Given the description of an element on the screen output the (x, y) to click on. 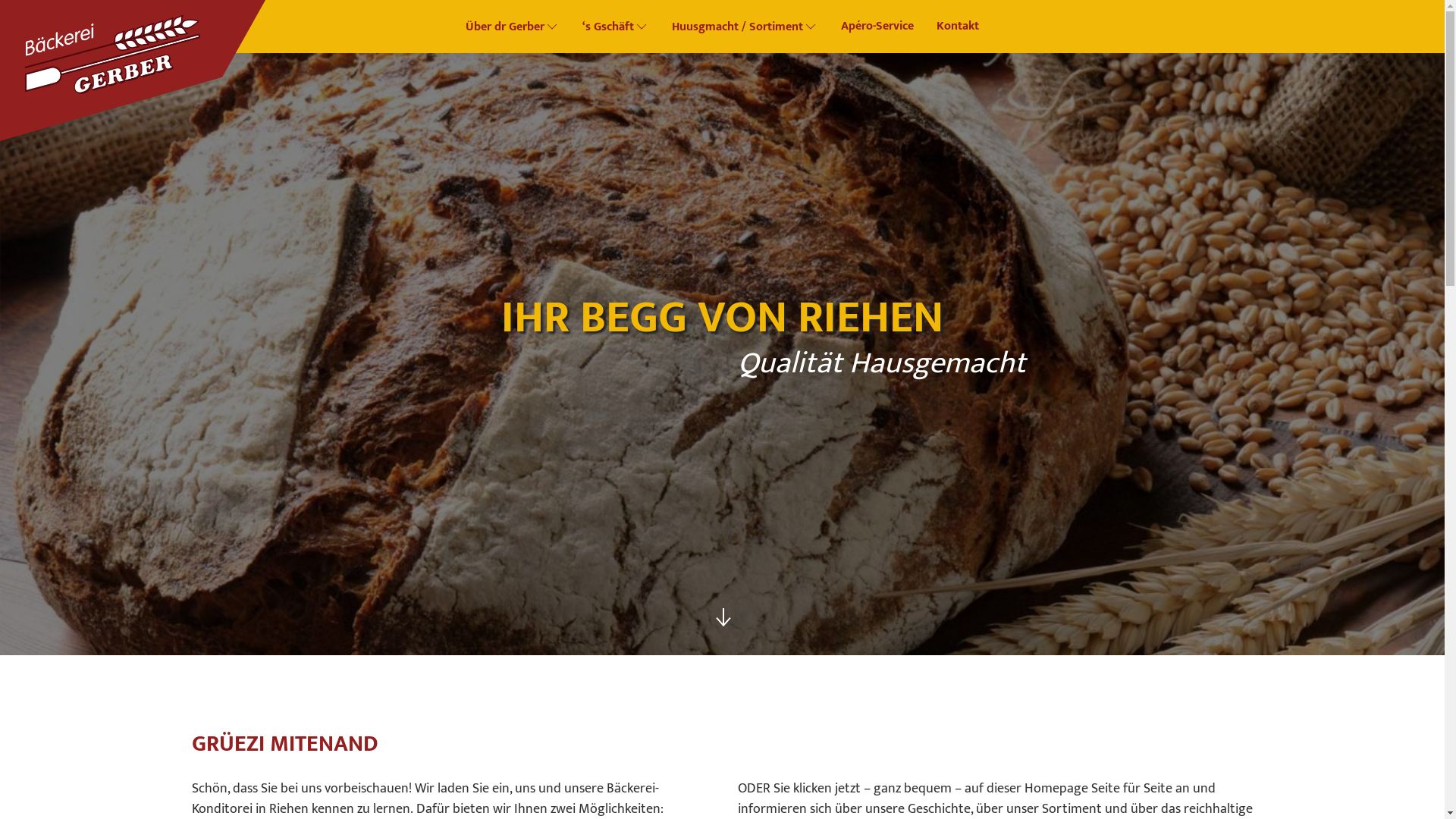
Kontakt Element type: text (957, 26)
Huusgmacht / Sortiment Element type: text (744, 26)
